Given the description of an element on the screen output the (x, y) to click on. 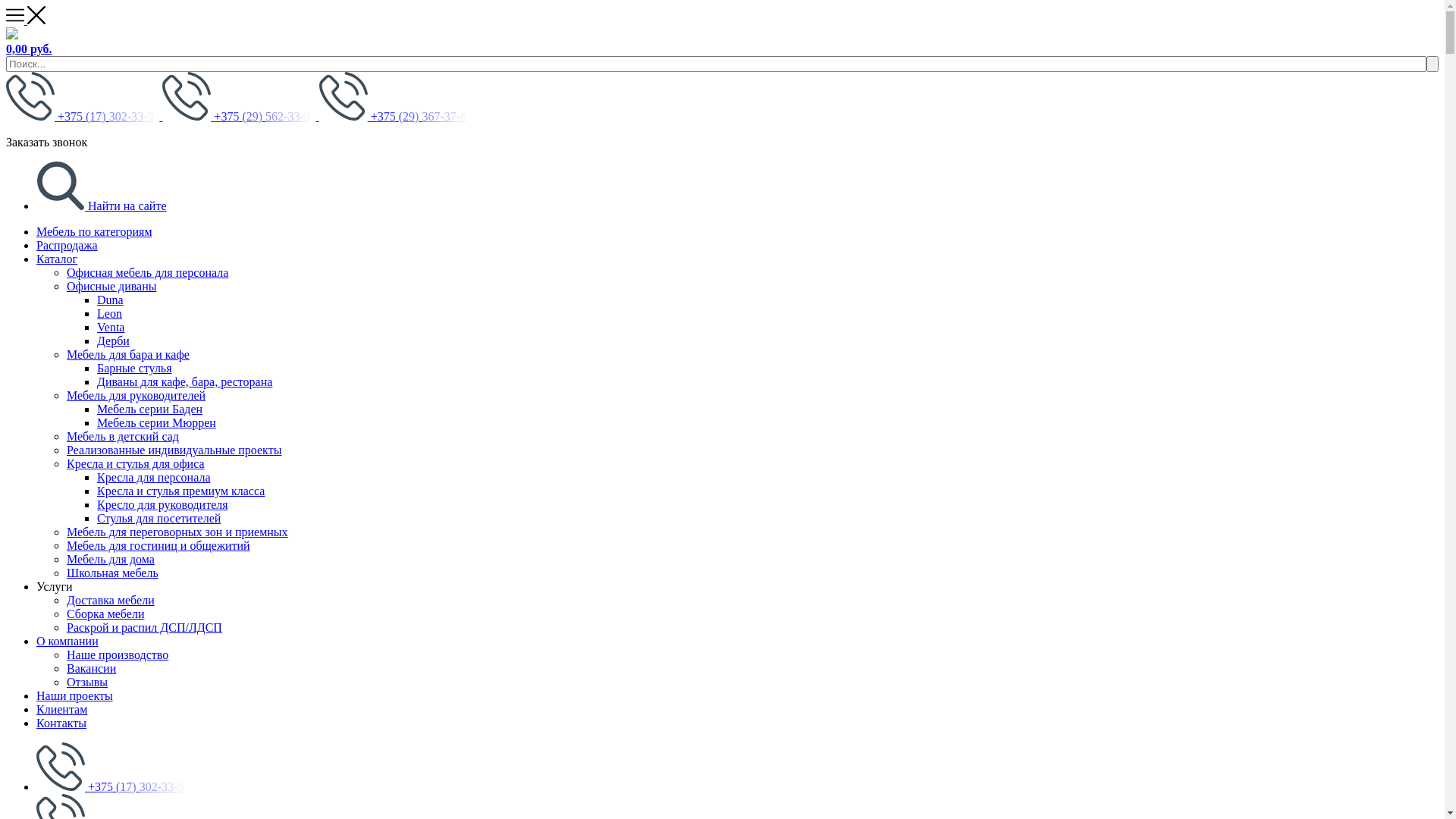
+375 (29) 562-33-9 Element type: text (240, 115)
+375 (17) 302-33-9 Element type: text (112, 786)
Venta Element type: text (110, 326)
+375 (29) 367-37-6 Element type: text (395, 115)
Duna Element type: text (110, 299)
+375 (17) 302-33-9 Element type: text (84, 115)
Leon Element type: text (109, 313)
